Given the description of an element on the screen output the (x, y) to click on. 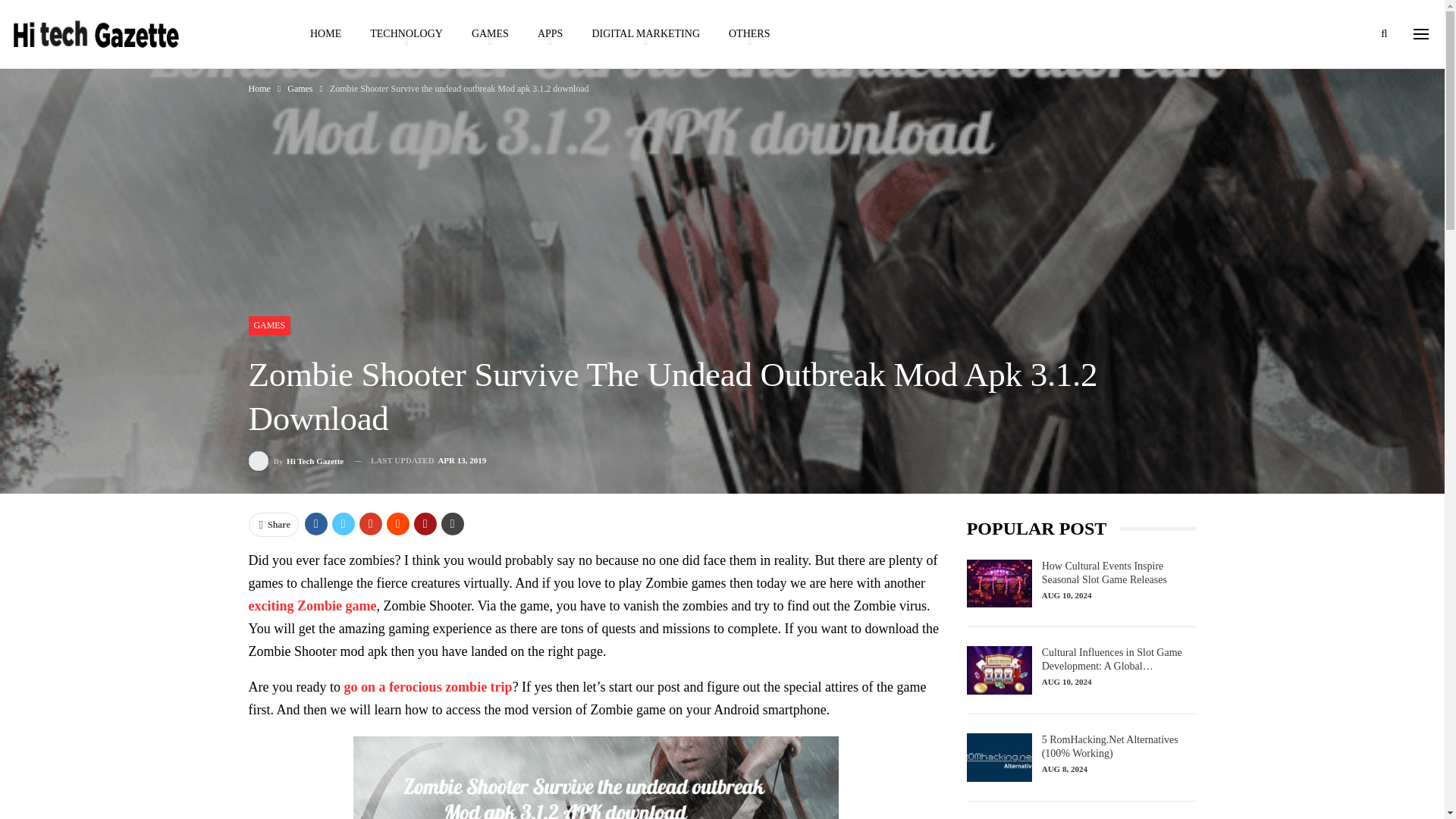
Browse Author Articles (295, 460)
GAMES (489, 33)
TECHNOLOGY (406, 33)
HOME (325, 33)
